Given the description of an element on the screen output the (x, y) to click on. 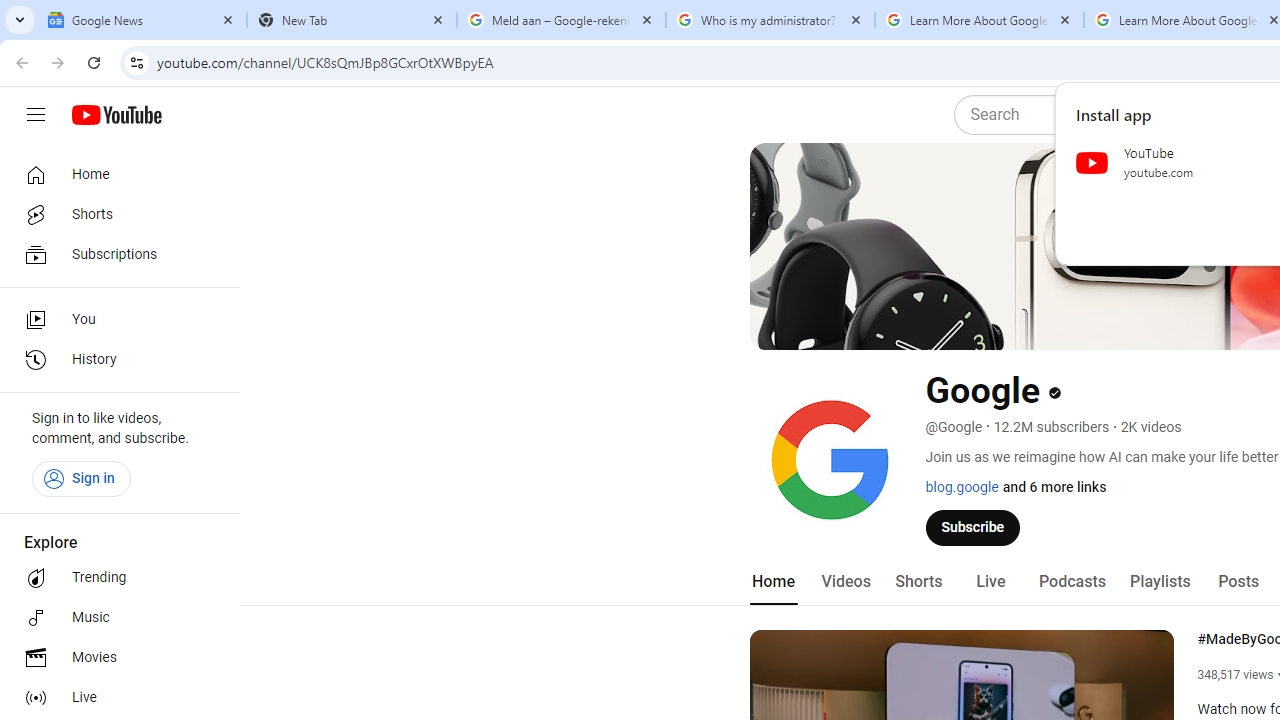
blog.google (961, 487)
Home (113, 174)
Videos (845, 581)
Guide (35, 115)
Podcasts (1072, 581)
